Given the description of an element on the screen output the (x, y) to click on. 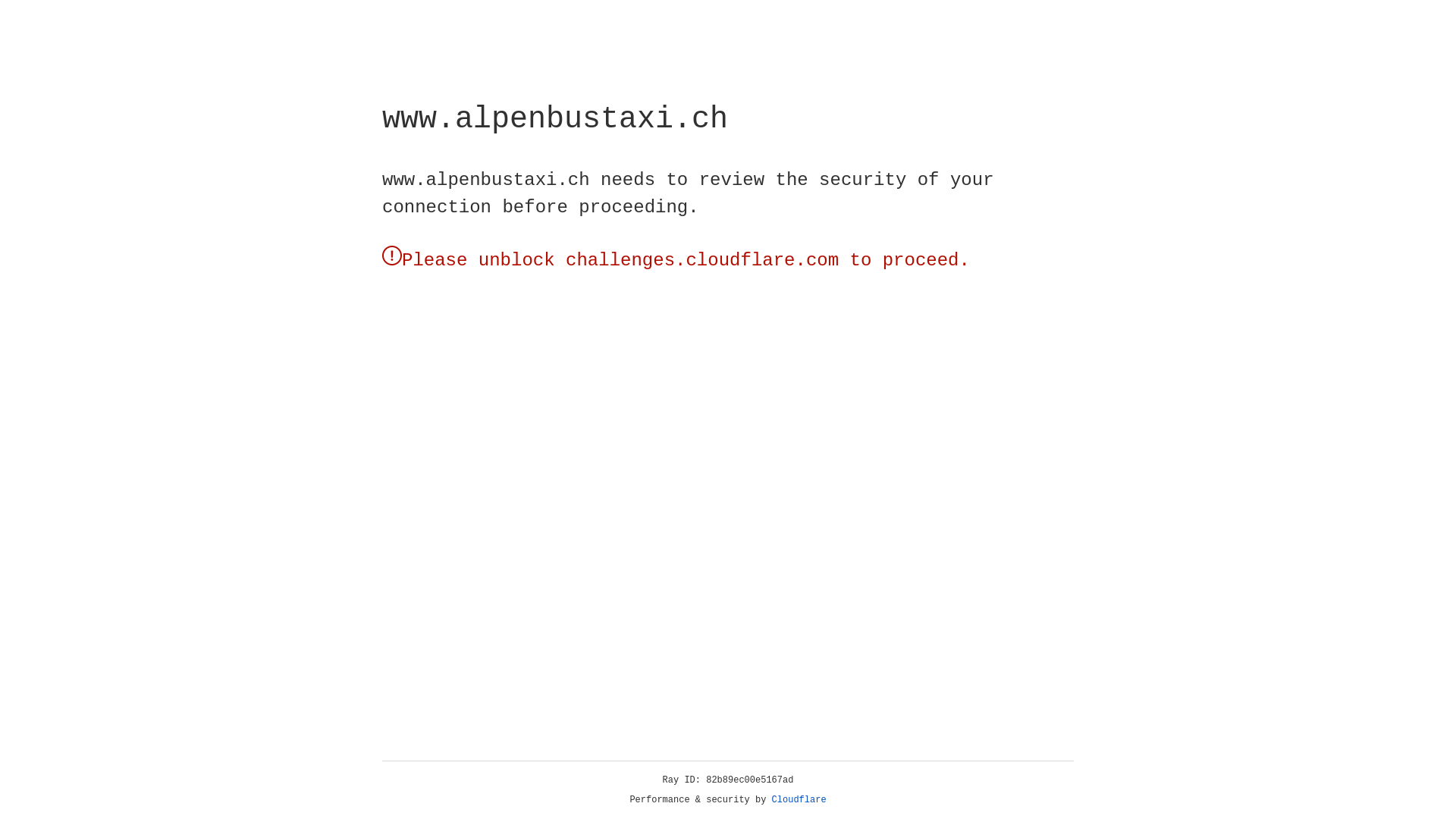
Cloudflare Element type: text (798, 799)
